Given the description of an element on the screen output the (x, y) to click on. 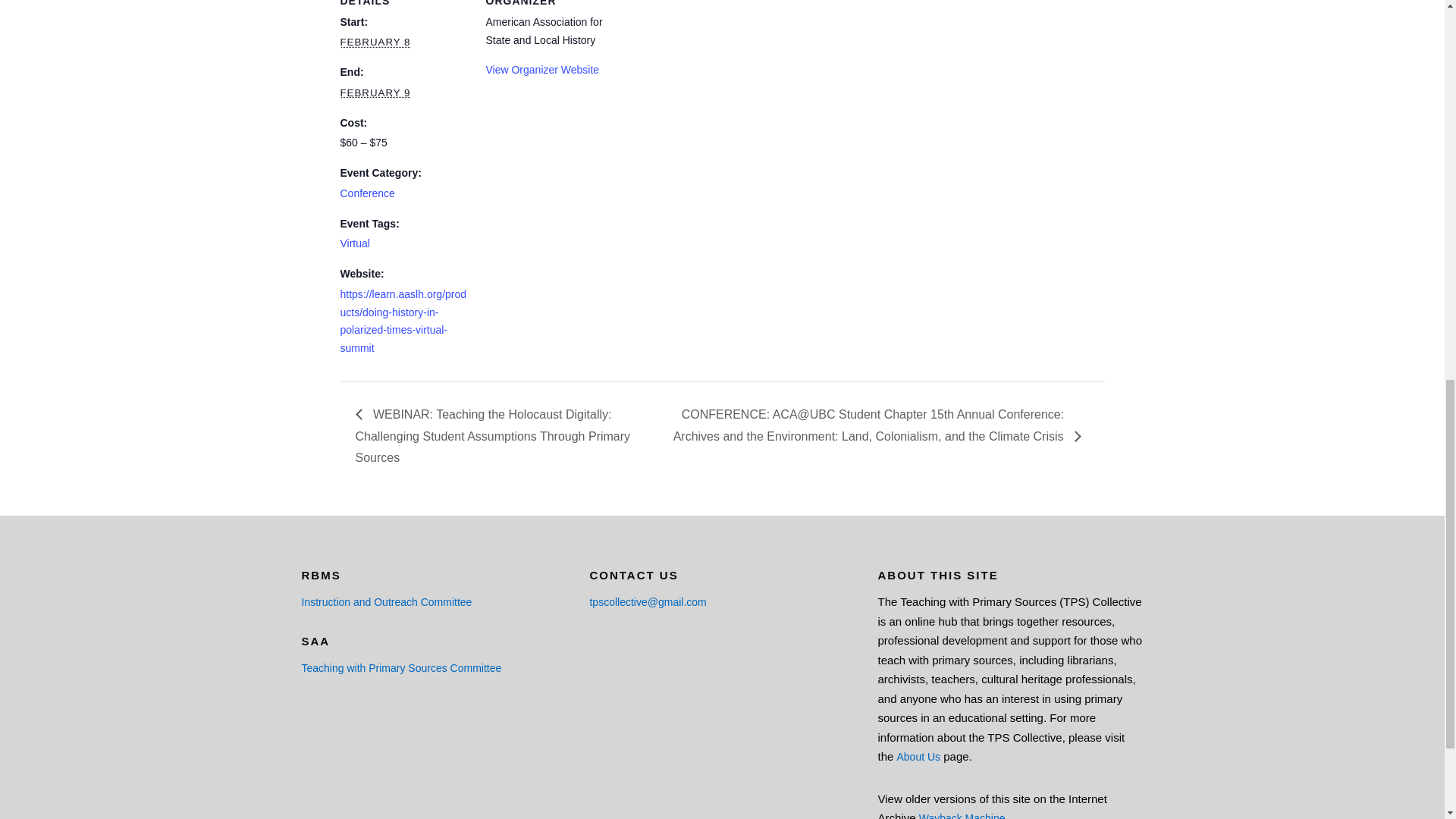
Teaching with Primary Sources Committee (401, 667)
Instruction and Outreach Committee (386, 602)
Conference (366, 193)
View Organizer Website (541, 69)
Virtual (354, 243)
2024-02-08 (374, 41)
2024-02-09 (374, 92)
